Given the description of an element on the screen output the (x, y) to click on. 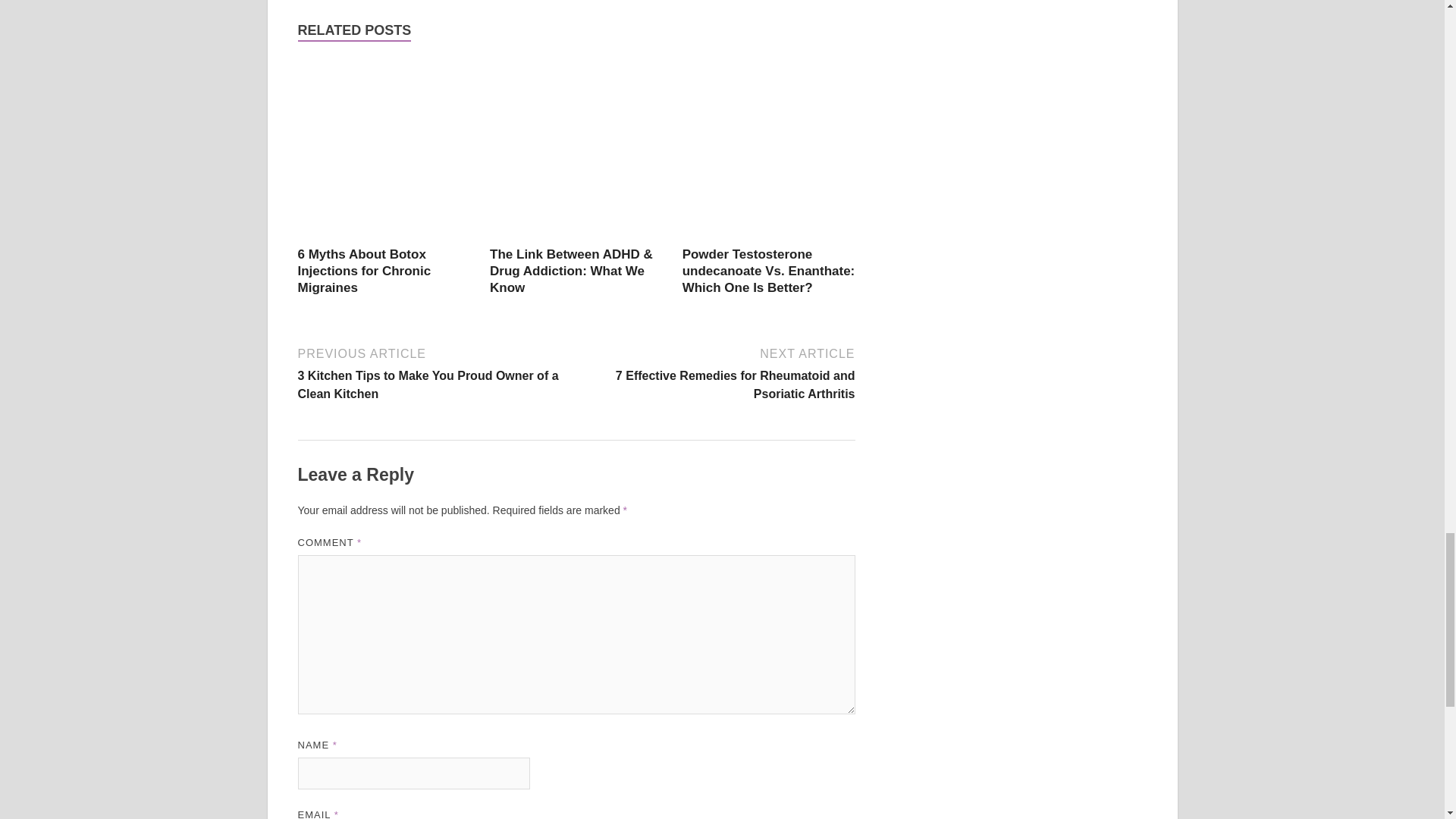
6 Myths About Botox Injections for Chronic Migraines (363, 270)
6 Myths About Botox Injections for Chronic Migraines (363, 270)
6 Myths About Botox Injections for Chronic Migraines (383, 236)
